Given the description of an element on the screen output the (x, y) to click on. 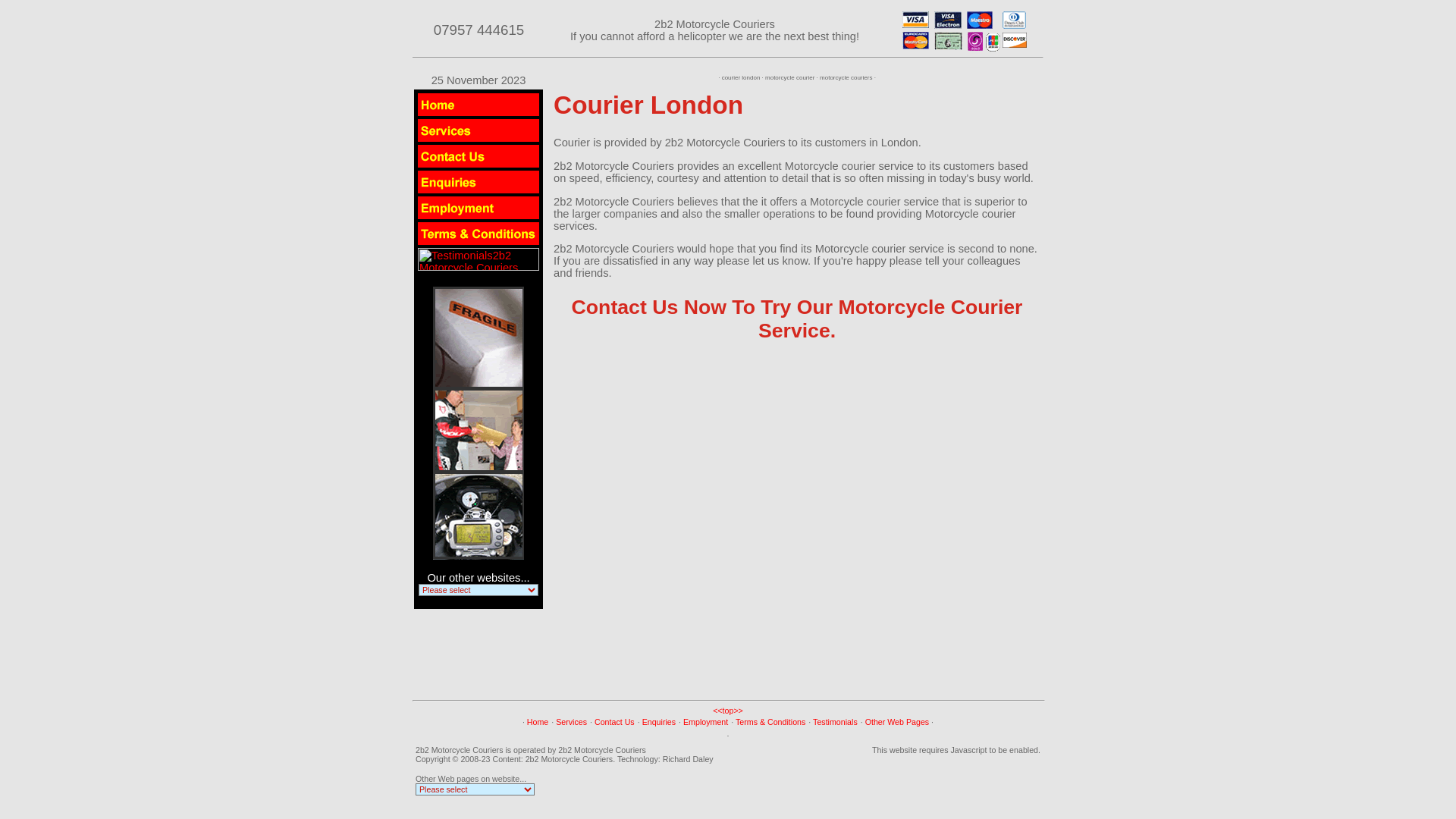
Home Element type: text (537, 721)
Terms & Conditions Element type: text (770, 721)
Testimonials Element type: text (834, 721)
Employment Element type: text (705, 721)
Contact Us Element type: text (614, 721)
Other Web Pages Element type: text (897, 721)
Services Element type: text (570, 721)
<<top>> Element type: text (727, 710)
Enquiries Element type: text (658, 721)
